Given the description of an element on the screen output the (x, y) to click on. 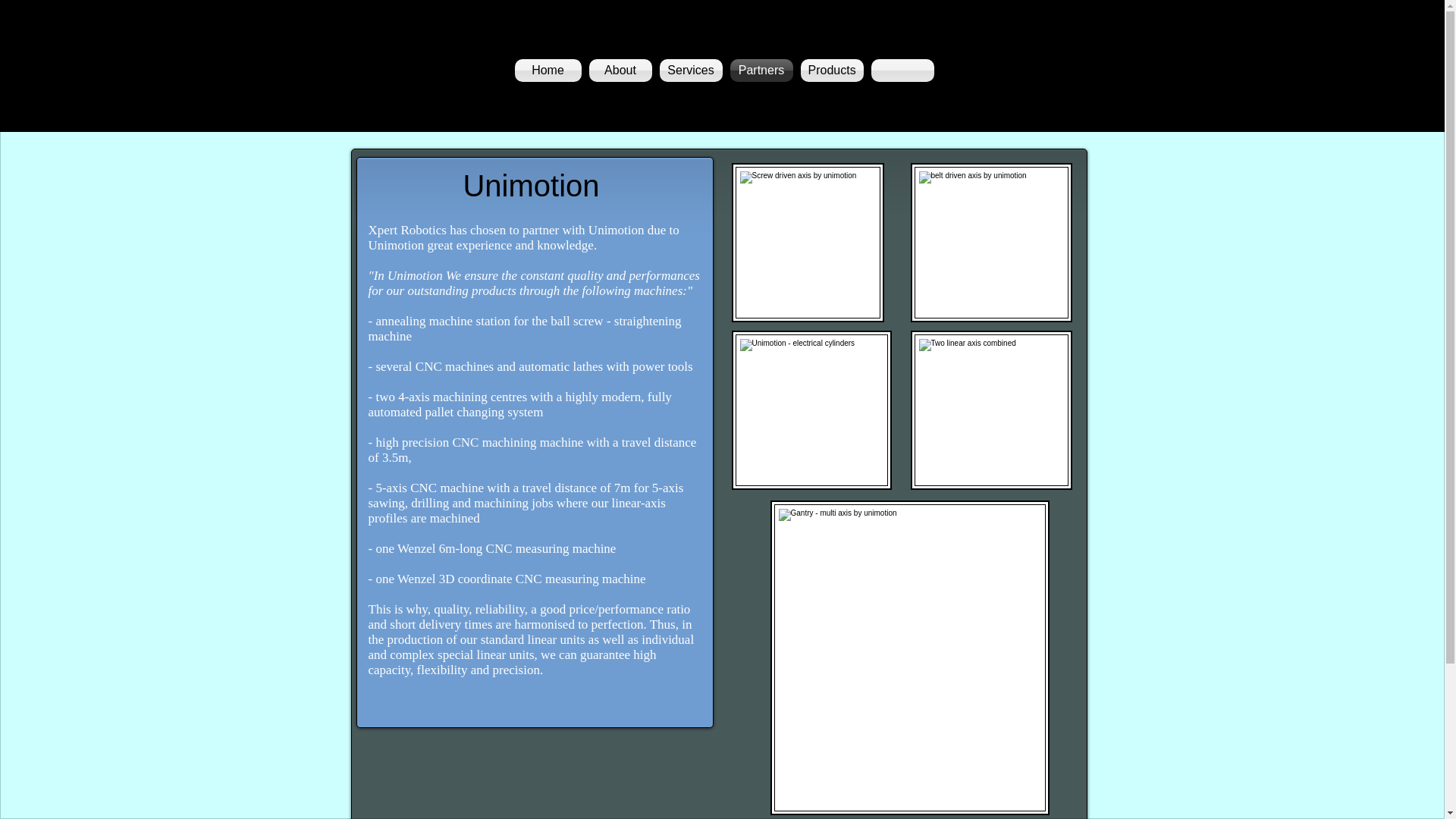
Partners (761, 69)
Gantry - multi axis by unimotion (909, 657)
Screw driven axis by unimotion (806, 242)
belt driven axis by unimotion (990, 242)
About (620, 69)
Services (690, 69)
Home (549, 69)
belt driven axis by unimotion (810, 409)
Products (831, 69)
